Given the description of an element on the screen output the (x, y) to click on. 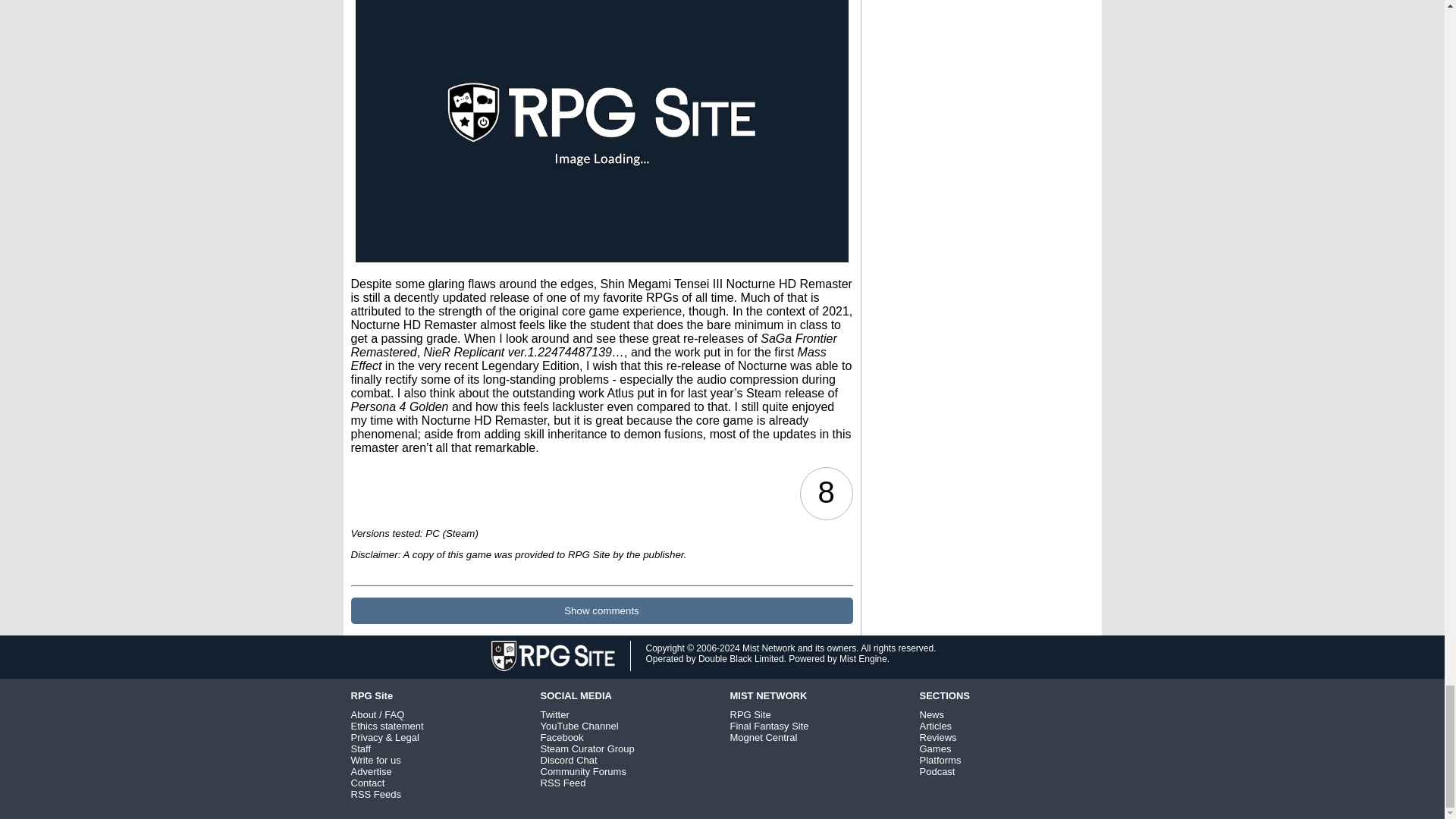
Show comments (600, 610)
Contact (367, 782)
Advertise (370, 771)
Ethics statement (386, 726)
RSS Feeds (375, 794)
Write for us (375, 759)
Staff (360, 748)
